Given the description of an element on the screen output the (x, y) to click on. 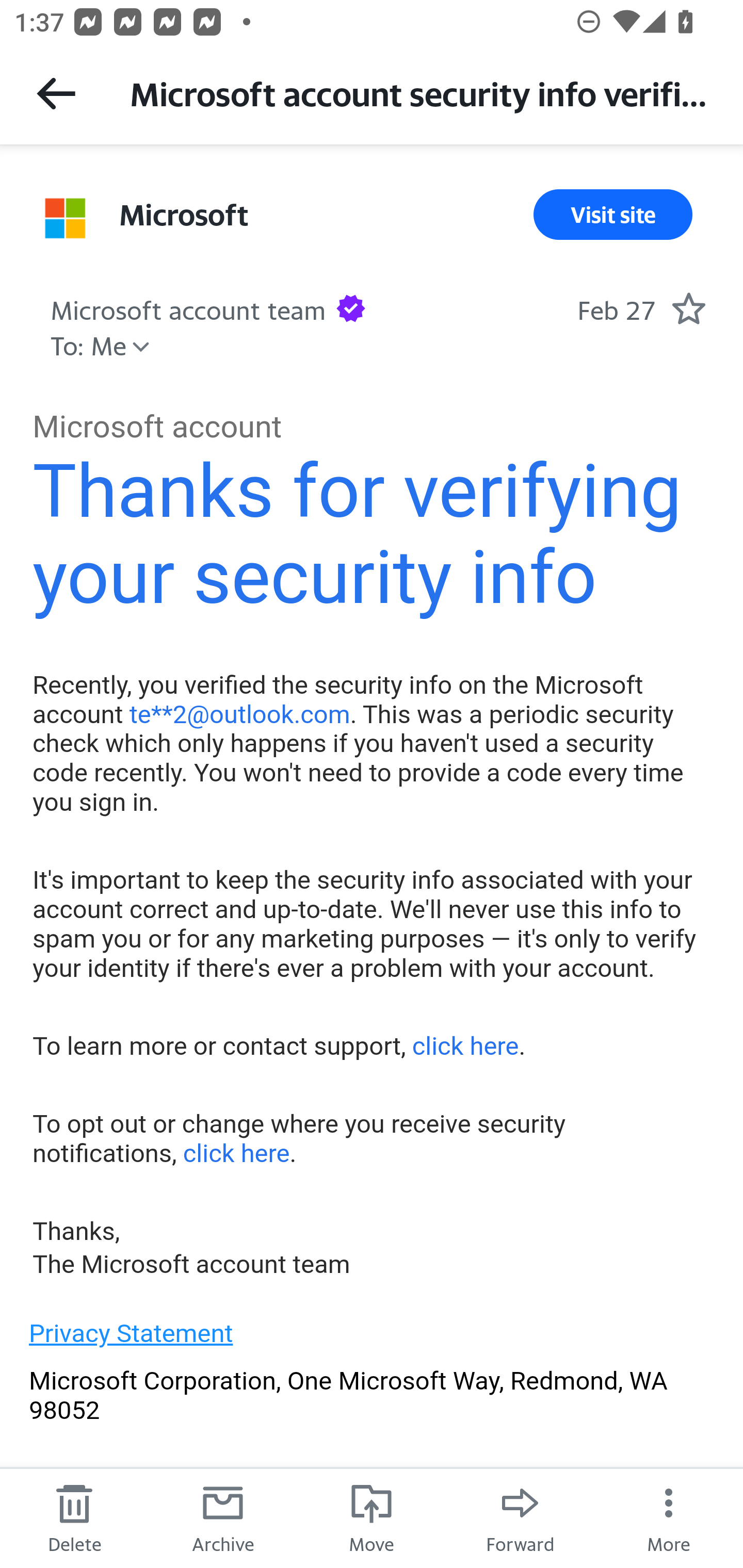
Back (55, 92)
View all messages from sender (64, 218)
Visit site Visit Site Link (612, 214)
Microsoft Sender Microsoft (183, 214)
Mark as starred. (688, 308)
te**2@outlook.com (239, 714)
click here (464, 1046)
click here (235, 1153)
Privacy Statement (131, 1332)
Delete (74, 1517)
Archive (222, 1517)
Move (371, 1517)
Forward (519, 1517)
More (668, 1517)
